Given the description of an element on the screen output the (x, y) to click on. 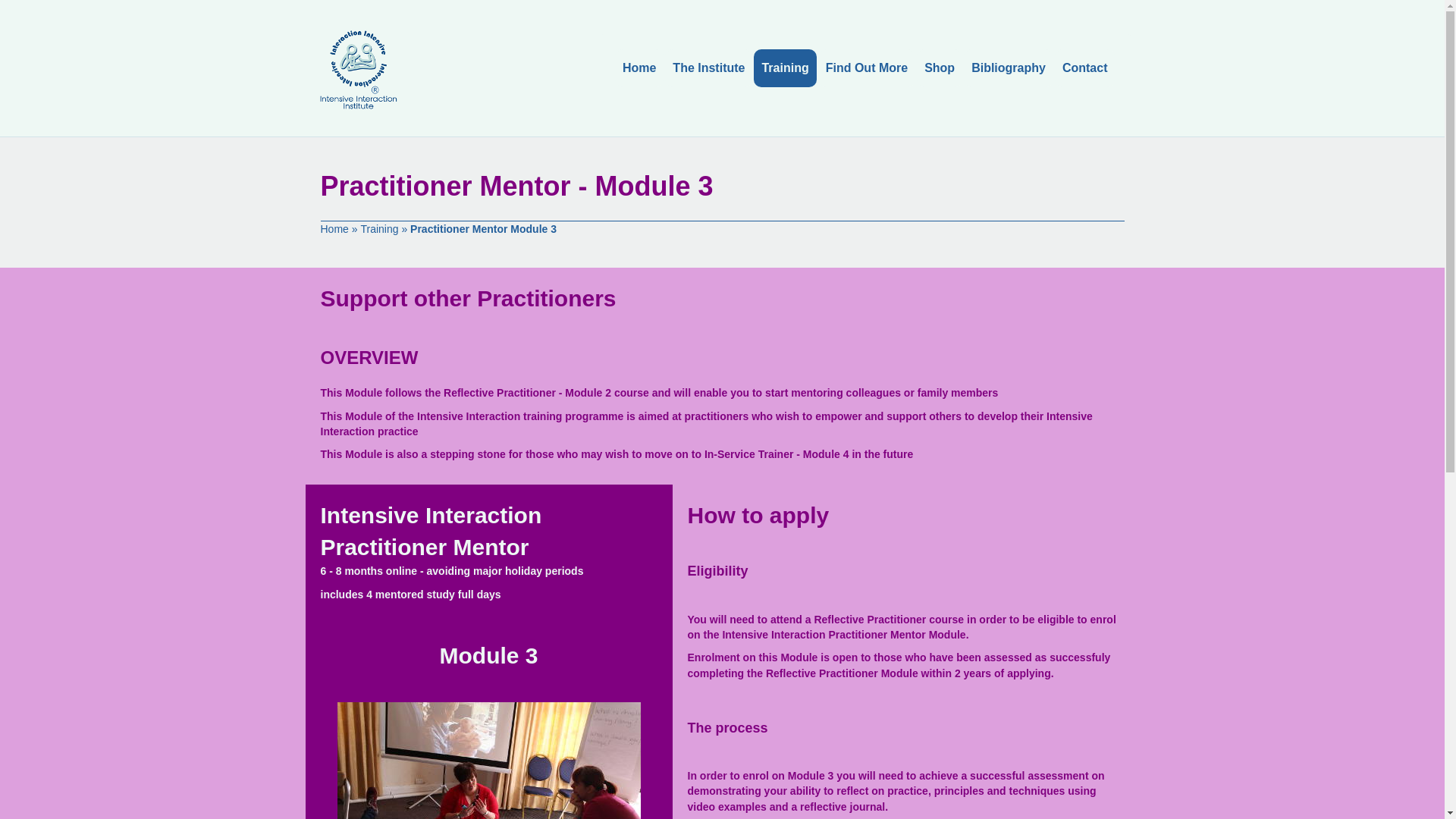
Training (378, 228)
Shop (939, 67)
Find Out More (866, 67)
Home (333, 228)
Contact (1084, 67)
10 Coordinators-400x267 (488, 760)
The Institute (708, 67)
Bibliography (1007, 67)
Home (638, 67)
Training (784, 67)
